Given the description of an element on the screen output the (x, y) to click on. 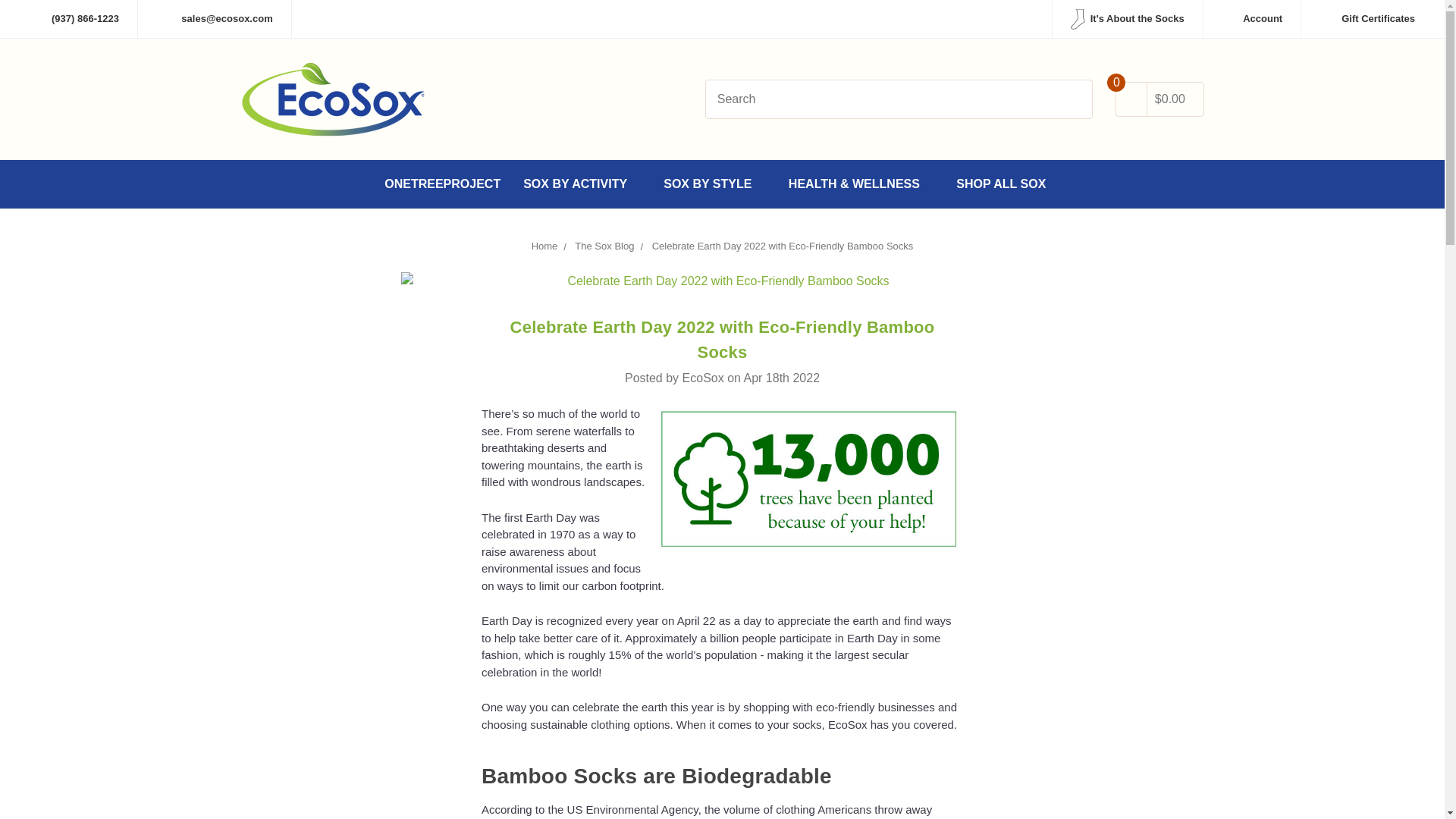
Gift Certificates (1366, 18)
Celebrate Earth Day 2022 with Eco-Friendly Bamboo Socks (722, 280)
Account (1251, 18)
It's About the Socks (1126, 18)
One Tree Planted (807, 480)
epicHeader.search (1069, 100)
EcoSox (333, 99)
